Given the description of an element on the screen output the (x, y) to click on. 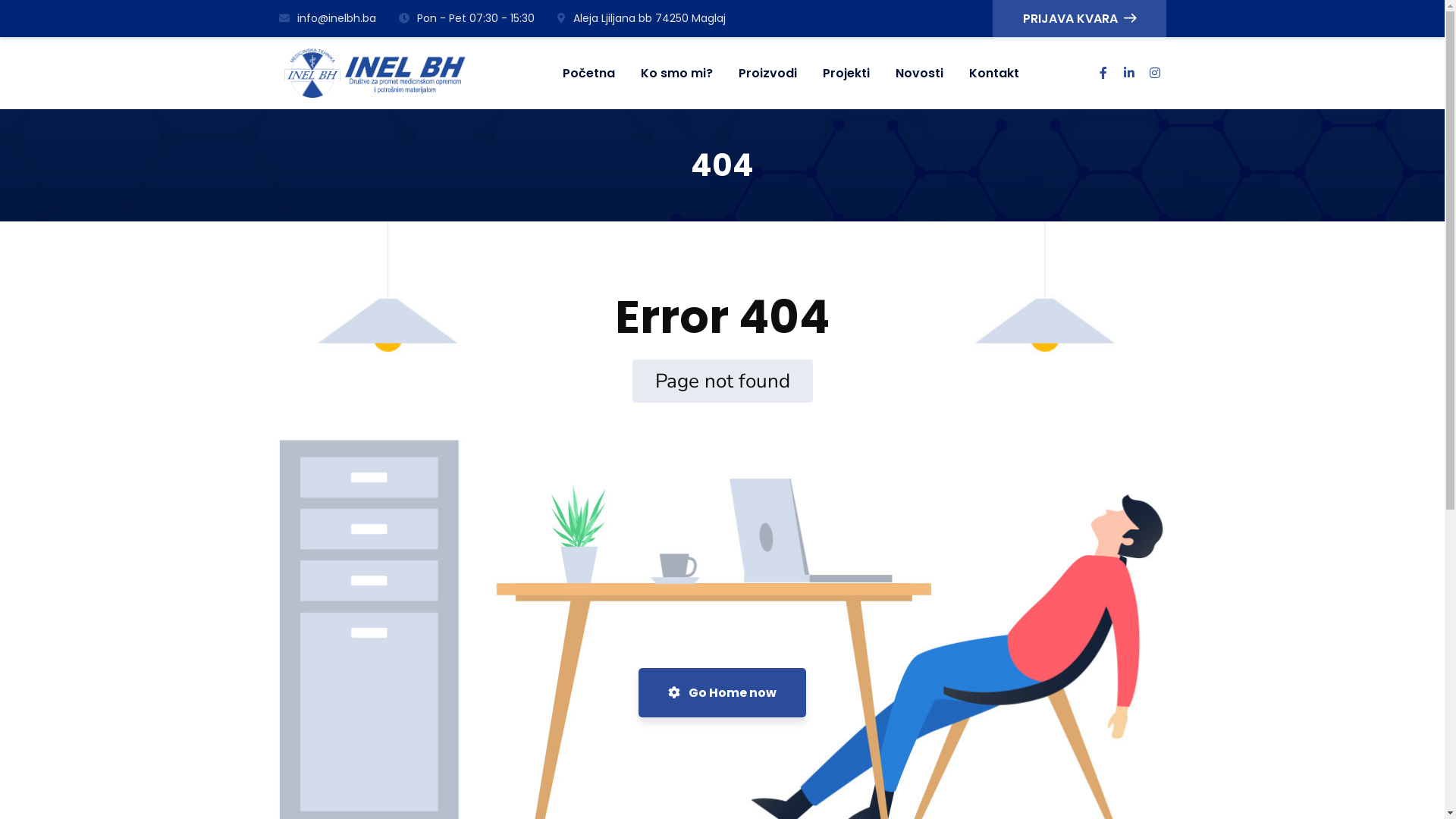
Ko smo mi? Element type: text (676, 72)
Novosti Element type: text (919, 72)
Go Home now Element type: text (722, 692)
info@inelbh.ba Element type: text (327, 17)
Projekti Element type: text (983, 663)
Kontakt Element type: text (994, 72)
Kontakt Element type: text (985, 708)
Projekti Element type: text (845, 72)
Aleja Ljiljana bb 74250 Maglaj Element type: text (640, 17)
Proizvodi Element type: text (987, 640)
Novosti Element type: text (983, 685)
Inel BH d.o.o. Maglaj Element type: hover (374, 71)
Proizvodi Element type: text (767, 72)
PRIJAVA KVARA Element type: text (1078, 18)
Ko smo mi? Element type: text (995, 617)
